Given the description of an element on the screen output the (x, y) to click on. 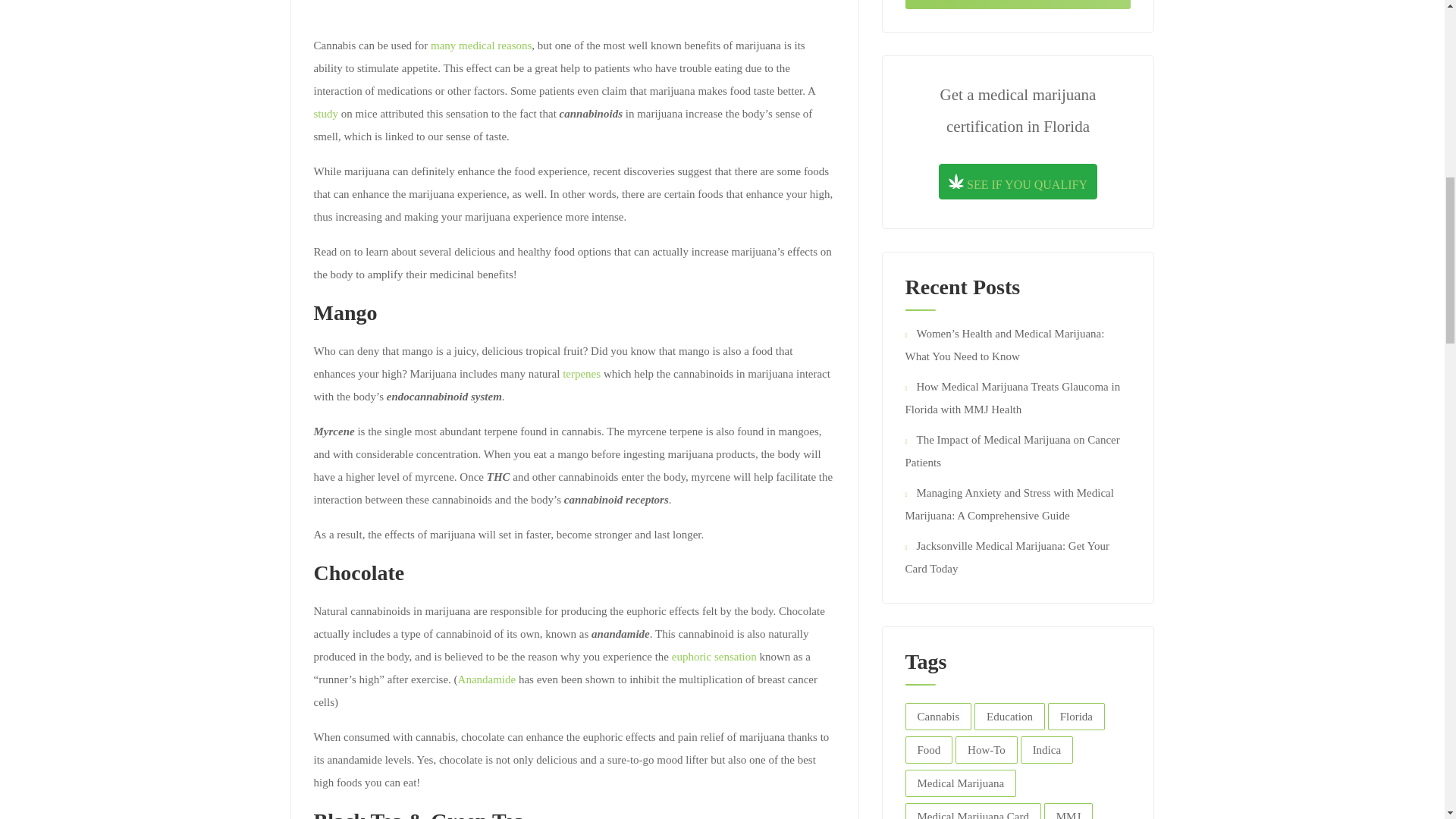
Subscribe (1018, 4)
